Given the description of an element on the screen output the (x, y) to click on. 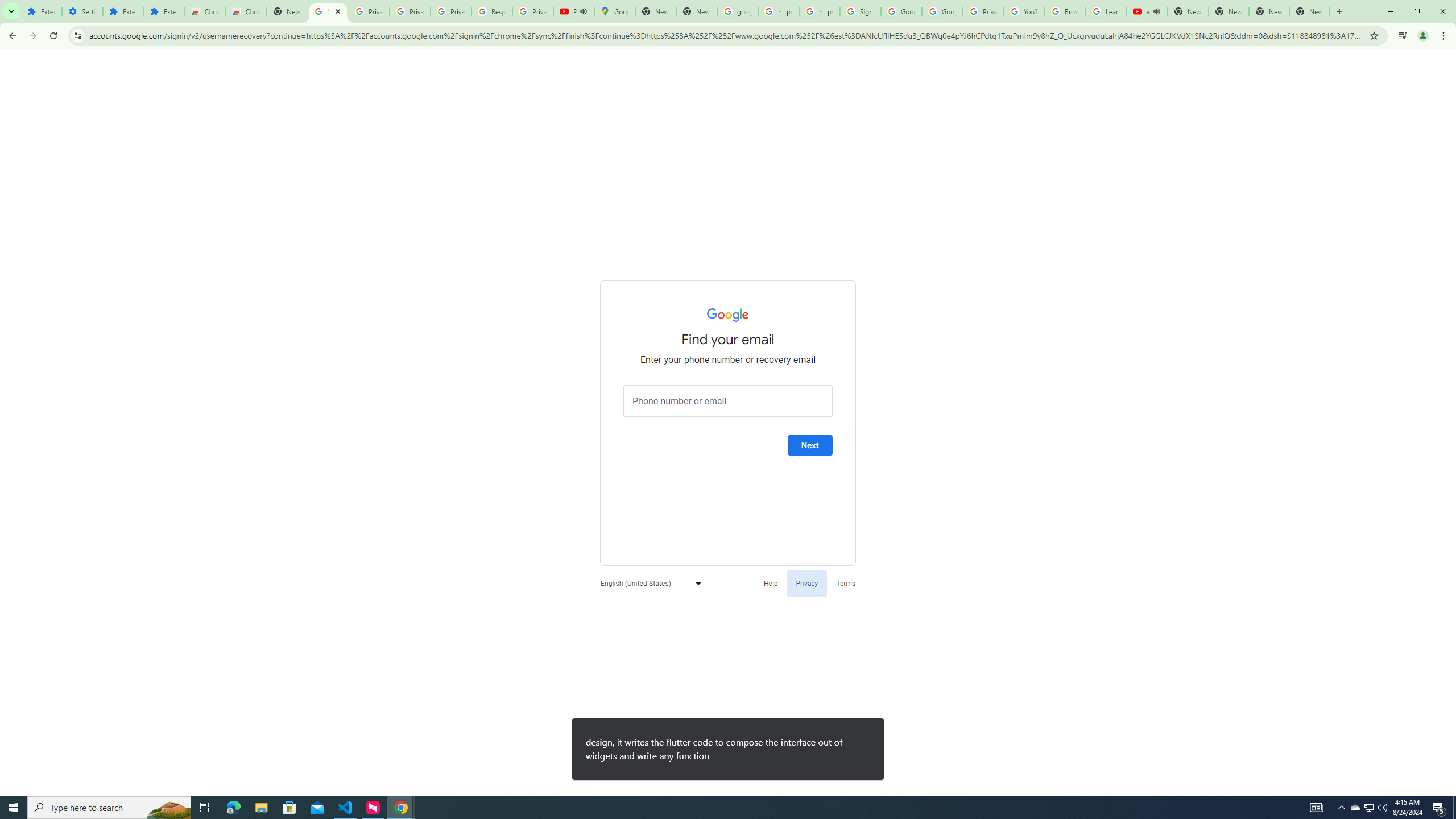
Extensions (163, 11)
Privacy (806, 583)
Extensions (122, 11)
